Given the description of an element on the screen output the (x, y) to click on. 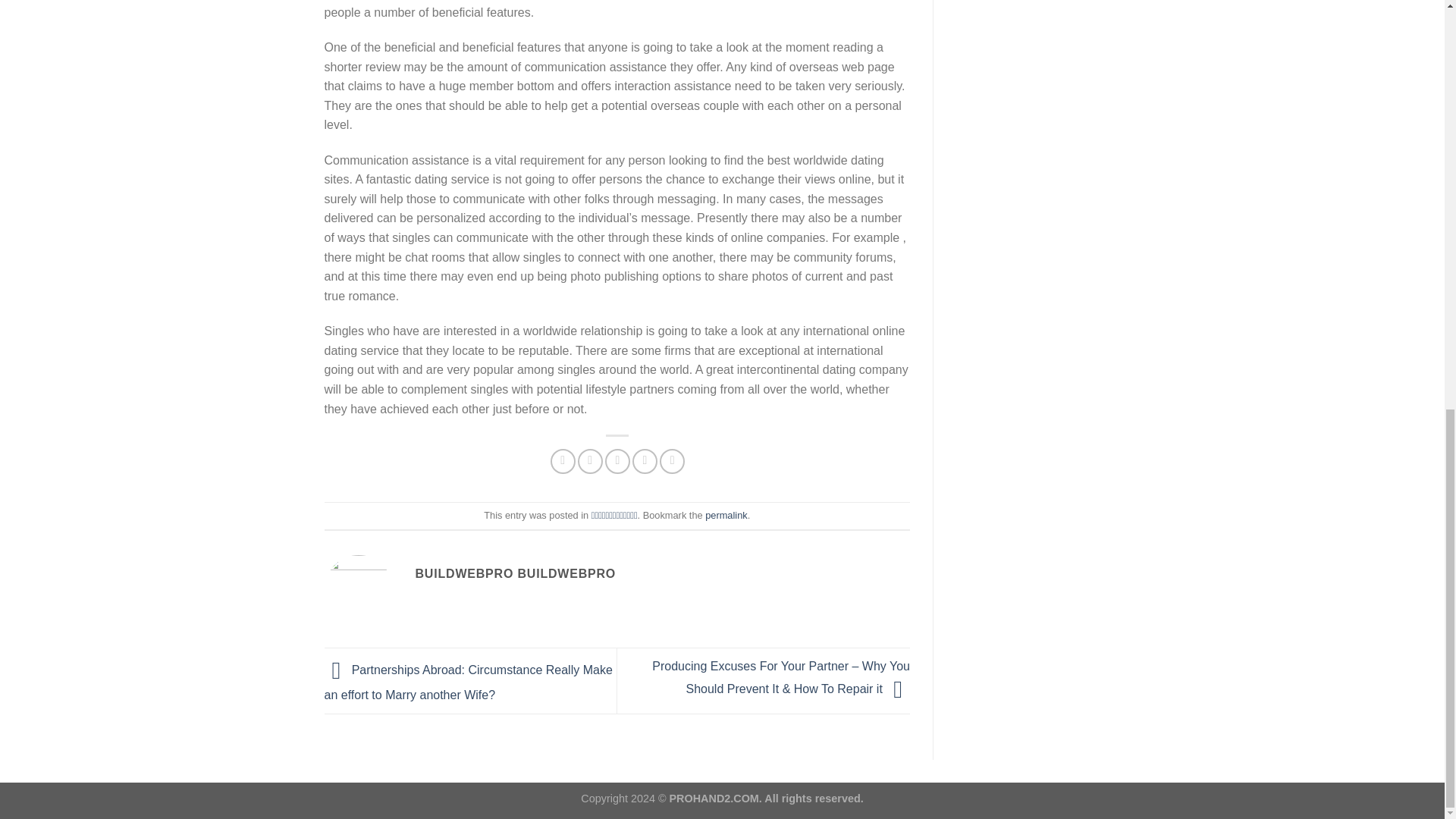
Permalink to Evaluations of the Best Overseas Dating Sites (725, 514)
permalink (725, 514)
